Given the description of an element on the screen output the (x, y) to click on. 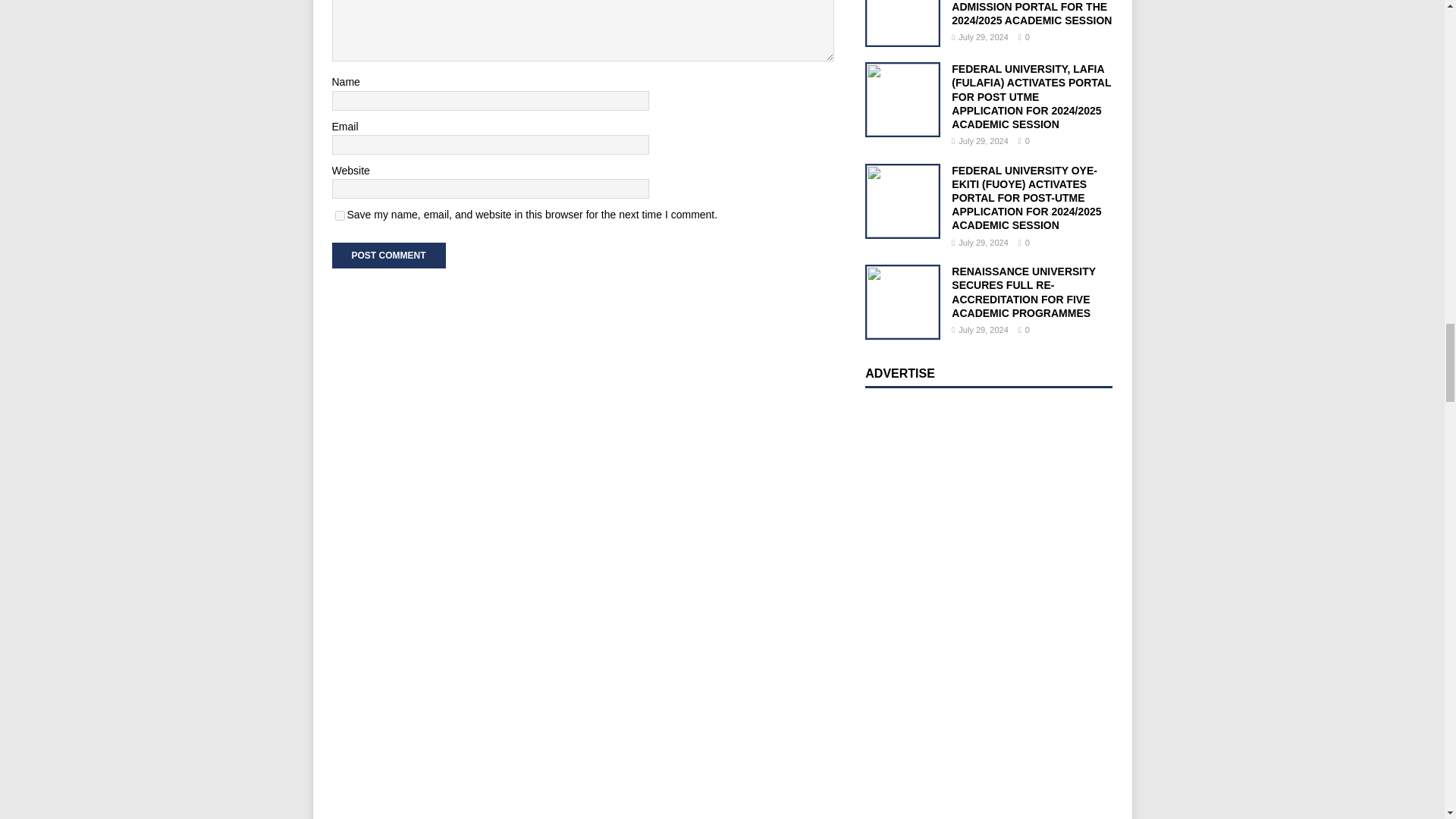
Post Comment (388, 255)
yes (339, 215)
Post Comment (388, 255)
